Given the description of an element on the screen output the (x, y) to click on. 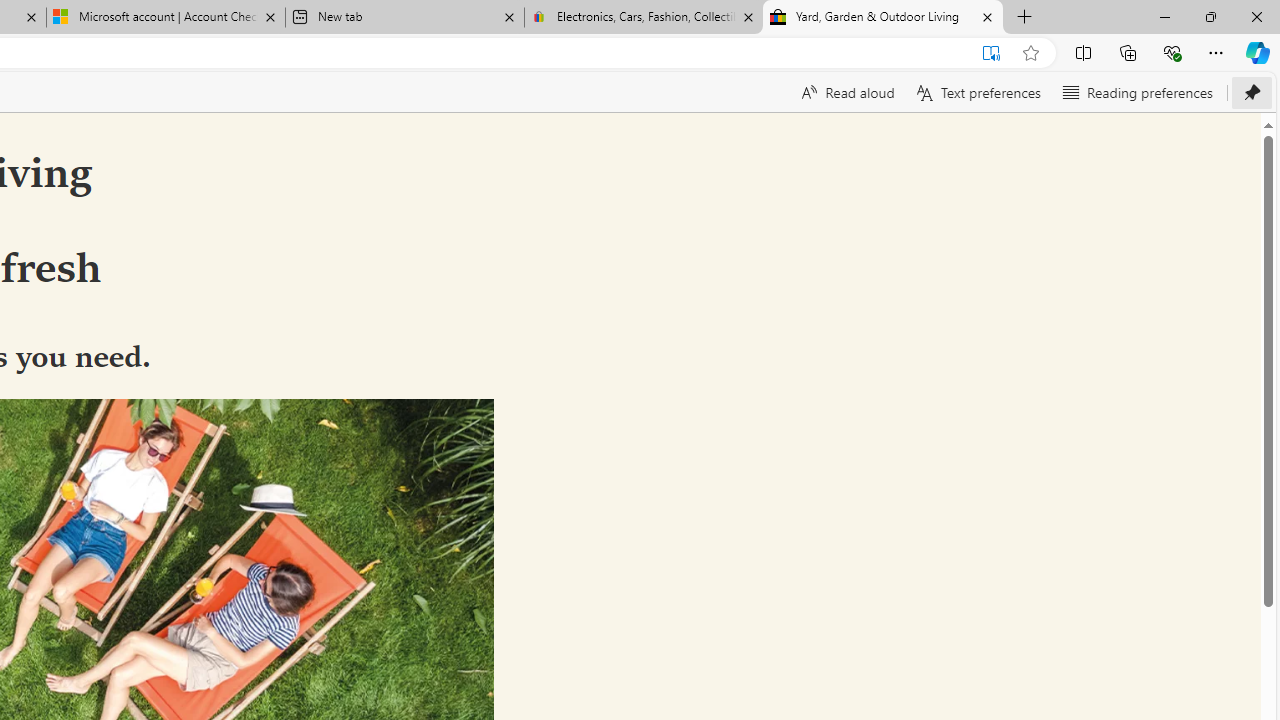
Exit Immersive Reader (F9) (991, 53)
Text preferences (976, 92)
